Given the description of an element on the screen output the (x, y) to click on. 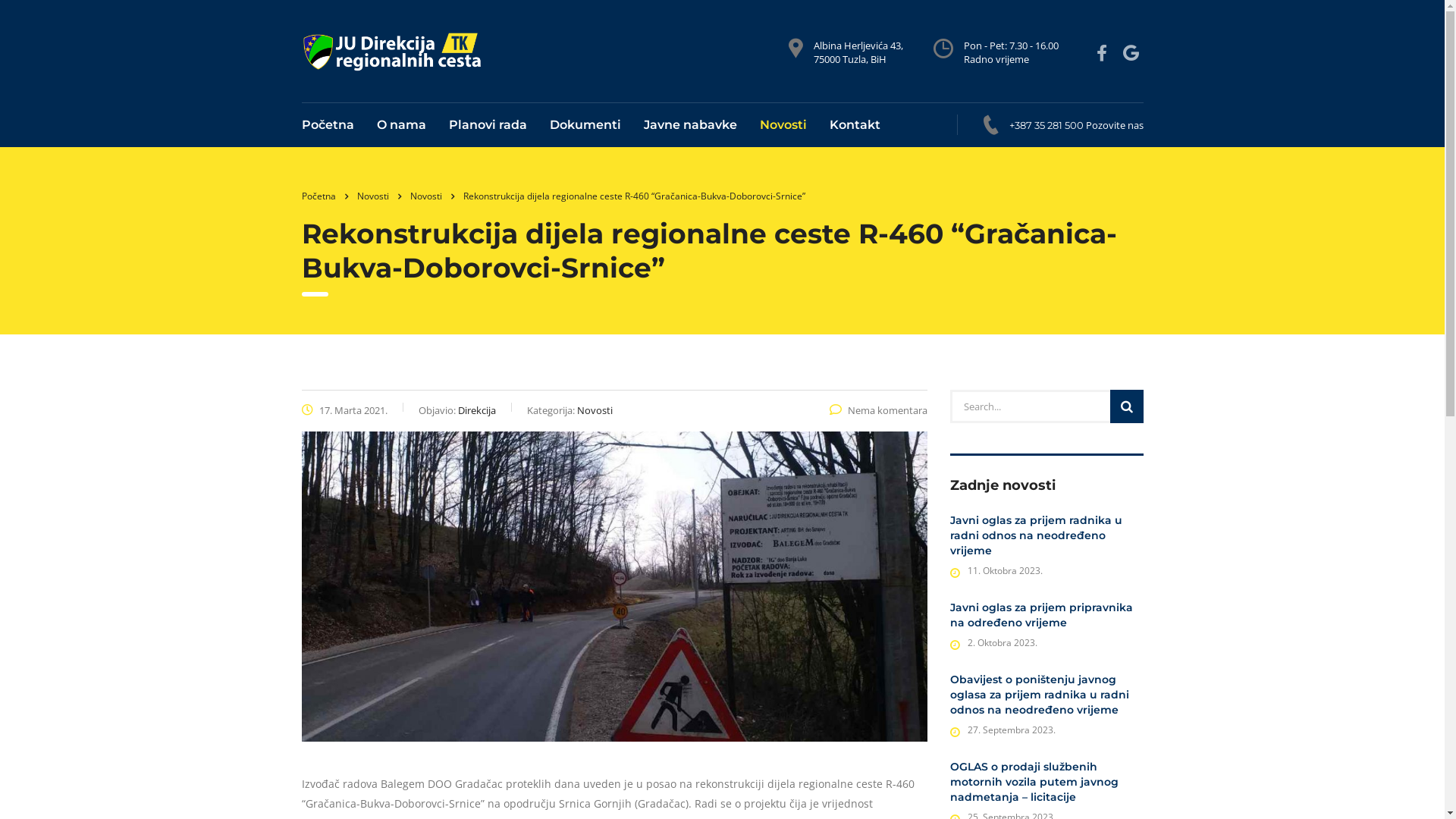
Novosti Element type: text (425, 195)
Javne nabavke Element type: text (690, 125)
Novosti Element type: text (372, 195)
Novosti Element type: text (782, 125)
  Element type: text (1103, 52)
Planovi rada Element type: text (486, 125)
Kontakt Element type: text (848, 125)
Nema komentara Element type: text (878, 410)
  Element type: text (1133, 52)
O nama Element type: text (401, 125)
Dokumenti Element type: text (585, 125)
